Given the description of an element on the screen output the (x, y) to click on. 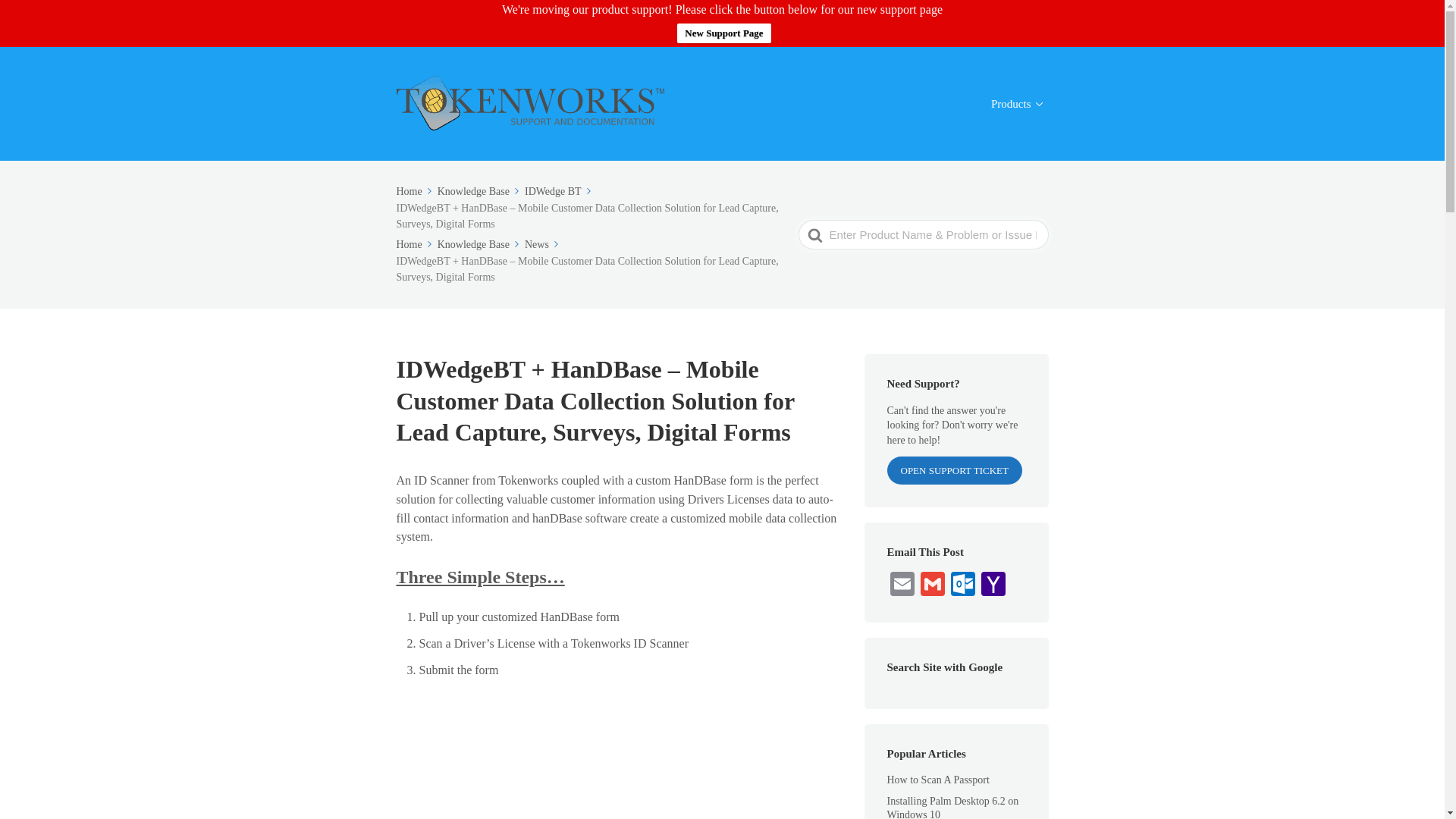
Yahoo Mail (993, 585)
News (542, 244)
Products (1016, 104)
Knowledge Base (480, 244)
Home (414, 191)
OPEN SUPPORT TICKET (954, 470)
Outlook.com (962, 585)
IDWedge BT (559, 191)
Yahoo Mail (993, 585)
Home (414, 244)
